Given the description of an element on the screen output the (x, y) to click on. 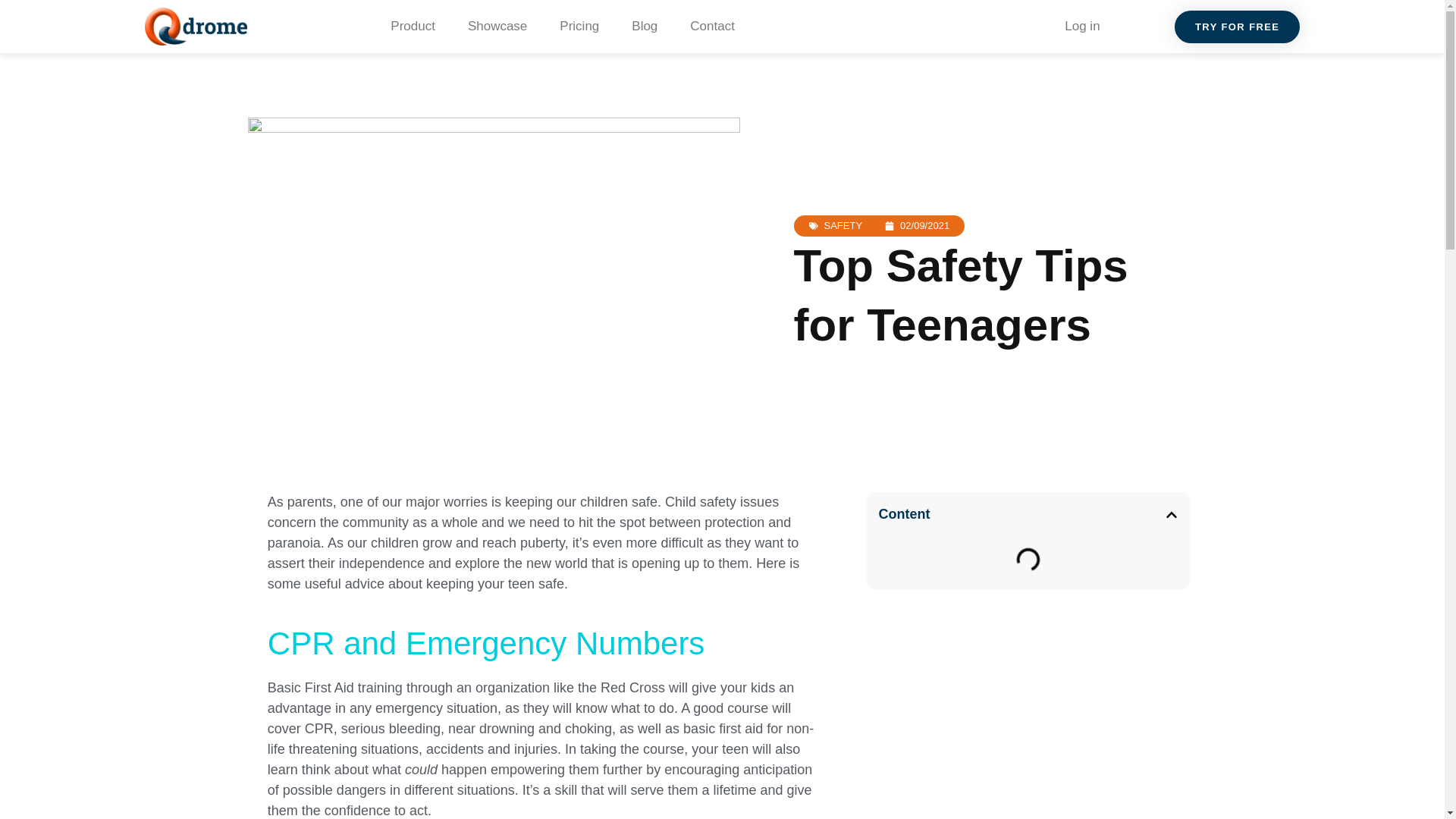
TRY FOR FREE (1237, 26)
Blog (643, 26)
Product (412, 26)
Contact (712, 26)
Log in (1082, 26)
Showcase (496, 26)
Pricing (579, 26)
